Given the description of an element on the screen output the (x, y) to click on. 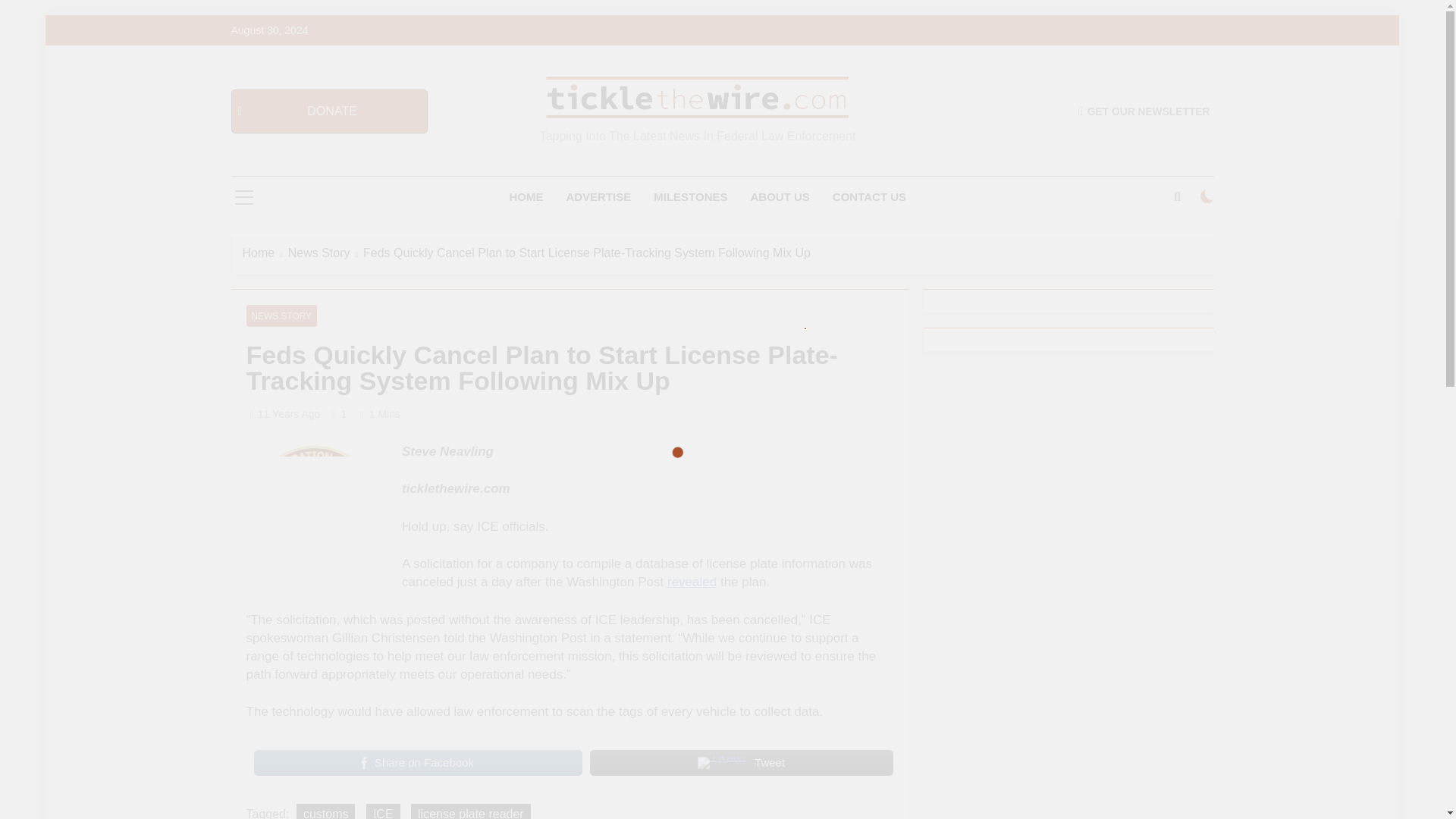
ICE (383, 811)
ABOUT US (780, 196)
Tickle The Wire (548, 139)
Share on Facebook (416, 762)
Home (265, 253)
GET OUR NEWSLETTER (1143, 110)
Tweet (741, 762)
News Story (325, 253)
HOME (525, 196)
